Given the description of an element on the screen output the (x, y) to click on. 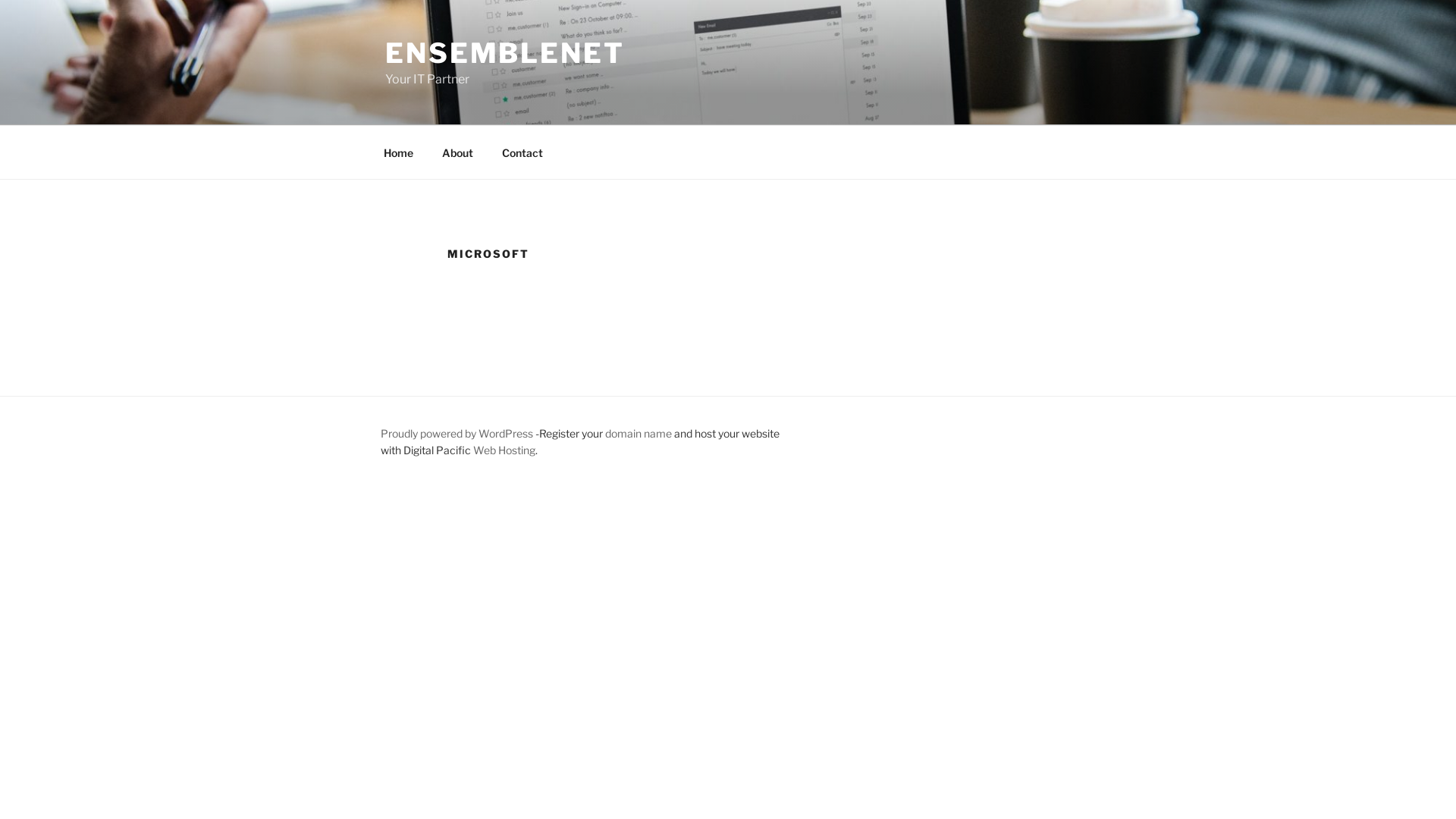
ENSEMBLENET Element type: text (504, 52)
domain name Element type: text (638, 432)
About Element type: text (457, 151)
Home Element type: text (398, 151)
Proudly powered by WordPress Element type: text (457, 432)
Contact Element type: text (521, 151)
Web Hosting Element type: text (504, 449)
